Given the description of an element on the screen output the (x, y) to click on. 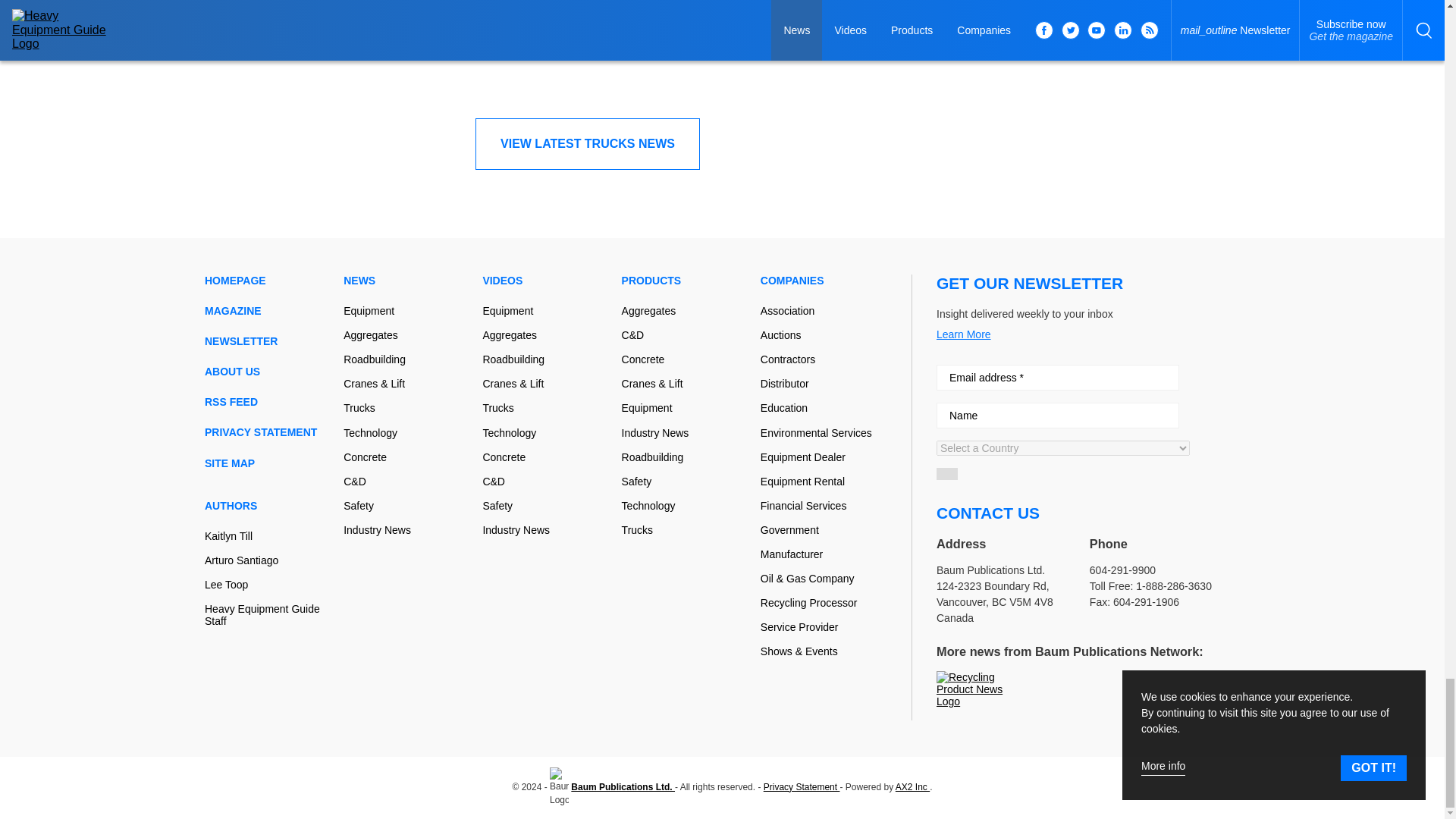
ABOUT US (268, 371)
MAGAZINE (268, 310)
VIEW LATEST TRUCKS NEWS (588, 143)
HOMEPAGE (268, 280)
PRIVACY STATEMENT (268, 431)
SITE MAP (268, 463)
RSS FEED (268, 401)
NEWSLETTER (268, 340)
